Given the description of an element on the screen output the (x, y) to click on. 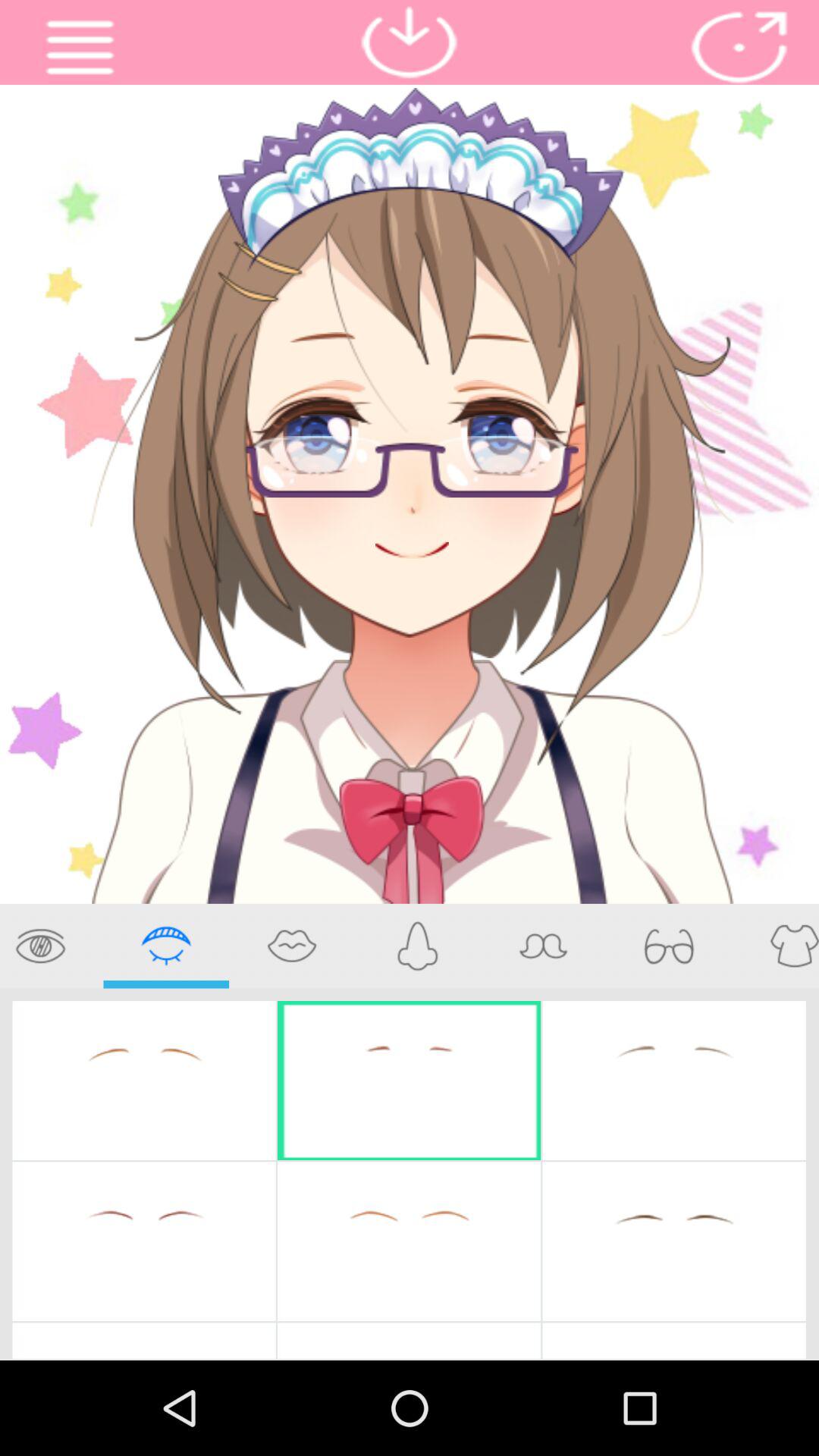
select option left to nose symbol (291, 946)
